Given the description of an element on the screen output the (x, y) to click on. 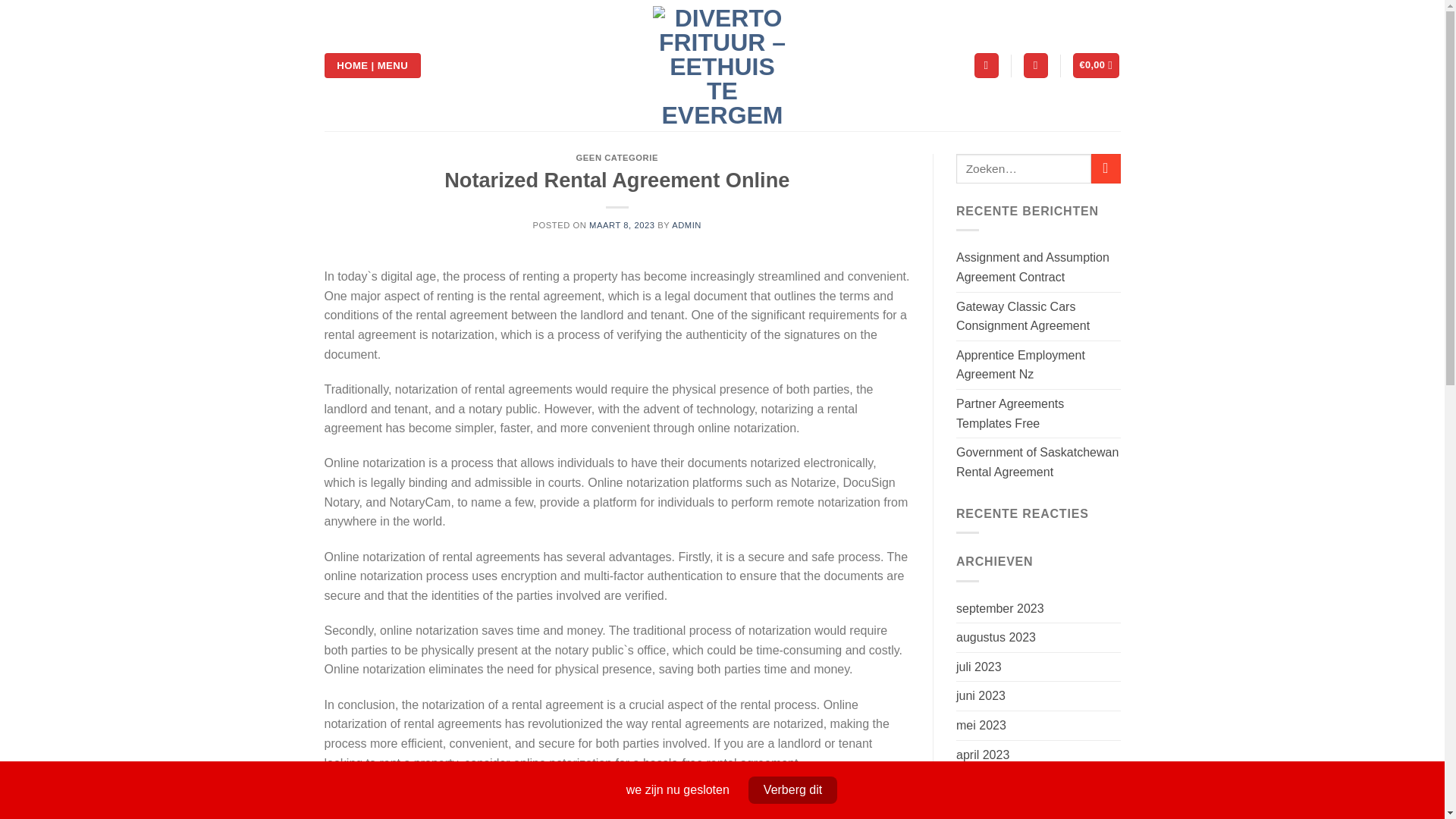
juli 2023 (978, 666)
MAART 8, 2023 (621, 225)
mei 2023 (981, 725)
april 2023 (982, 755)
Share on Twitter (590, 811)
Pin on Pinterest (644, 811)
Email to a Friend (617, 811)
augustus 2023 (995, 637)
maart 2023 (986, 783)
Gateway Classic Cars Consignment Agreement (1038, 316)
ADMIN (686, 225)
Share on Facebook (562, 811)
Apprentice Employment Agreement Nz (1038, 365)
Partner Agreements Templates Free (1038, 413)
